Given the description of an element on the screen output the (x, y) to click on. 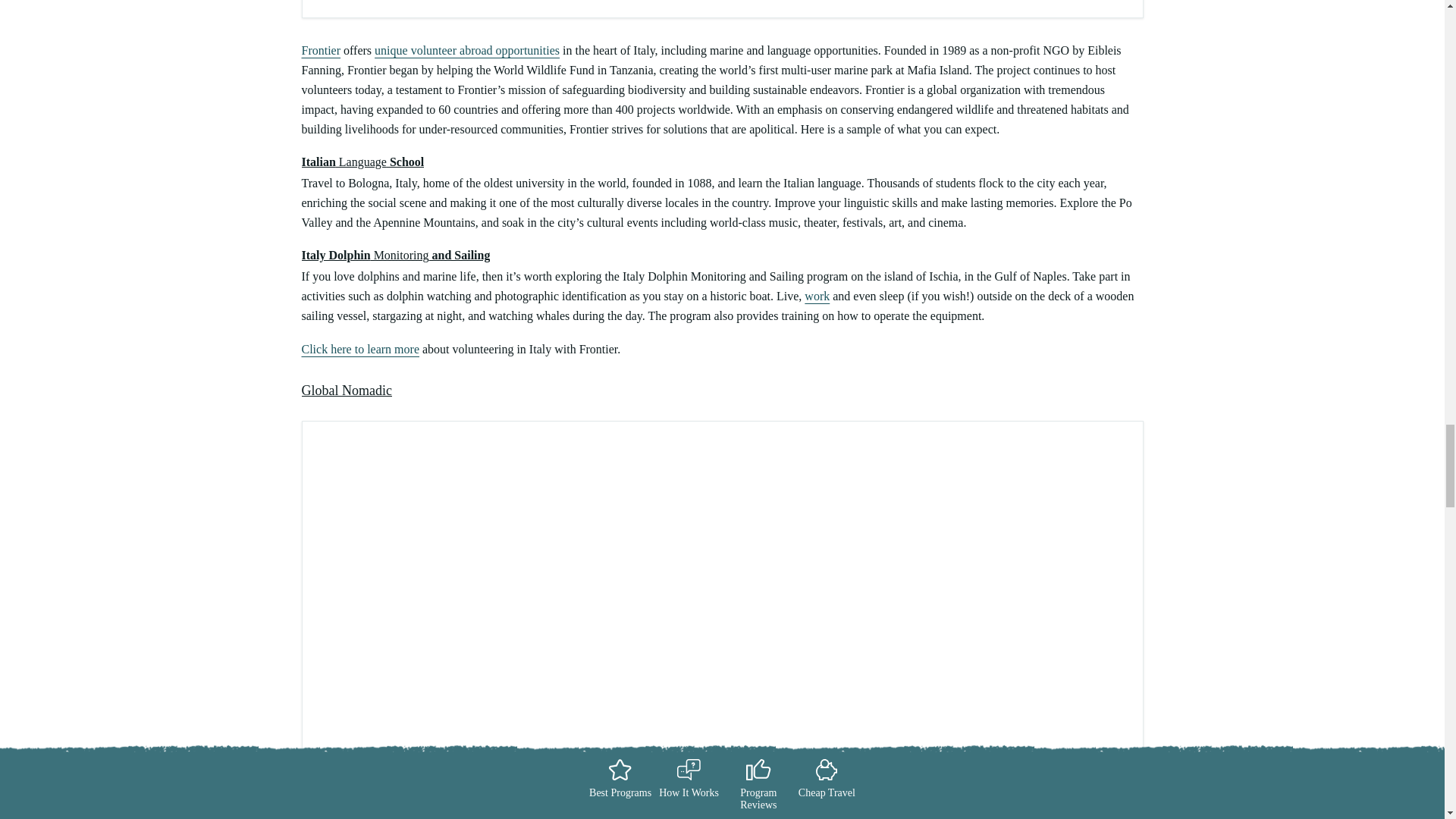
unique volunteer abroad opportunities (466, 50)
Frontier (320, 50)
Italian Language School (363, 162)
Italy Dolphin Monitoring and Sailing (395, 255)
work (817, 295)
